Given the description of an element on the screen output the (x, y) to click on. 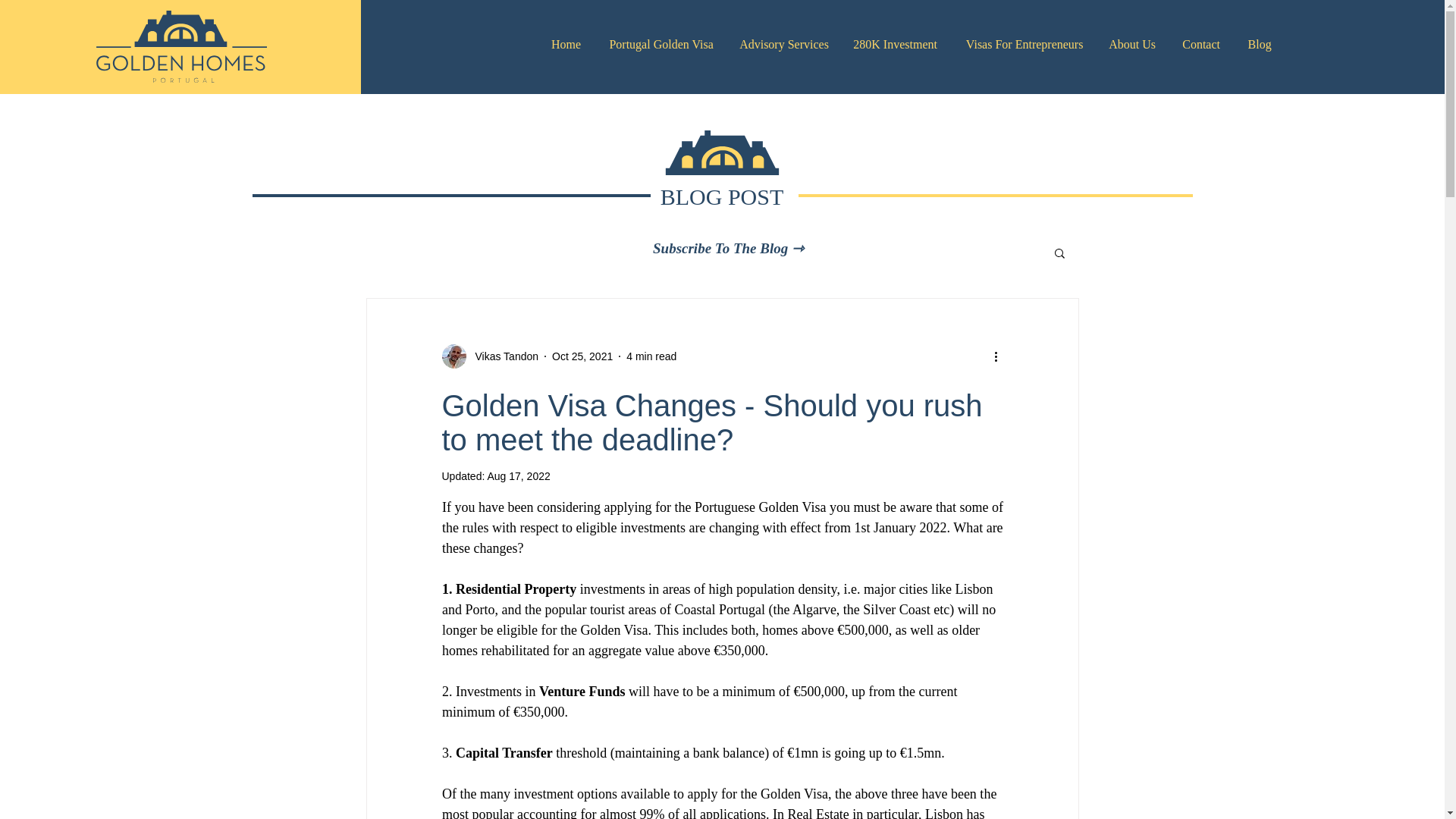
Vikas Tandon (501, 356)
Blog (1259, 44)
4 min read (651, 356)
About Us (1131, 44)
Visas For Entrepreneurs (1024, 44)
Aug 17, 2022 (518, 476)
Oct 25, 2021 (581, 356)
Portugal Golden Visa (661, 44)
Vikas Tandon (489, 355)
Advisory Services (783, 44)
